Given the description of an element on the screen output the (x, y) to click on. 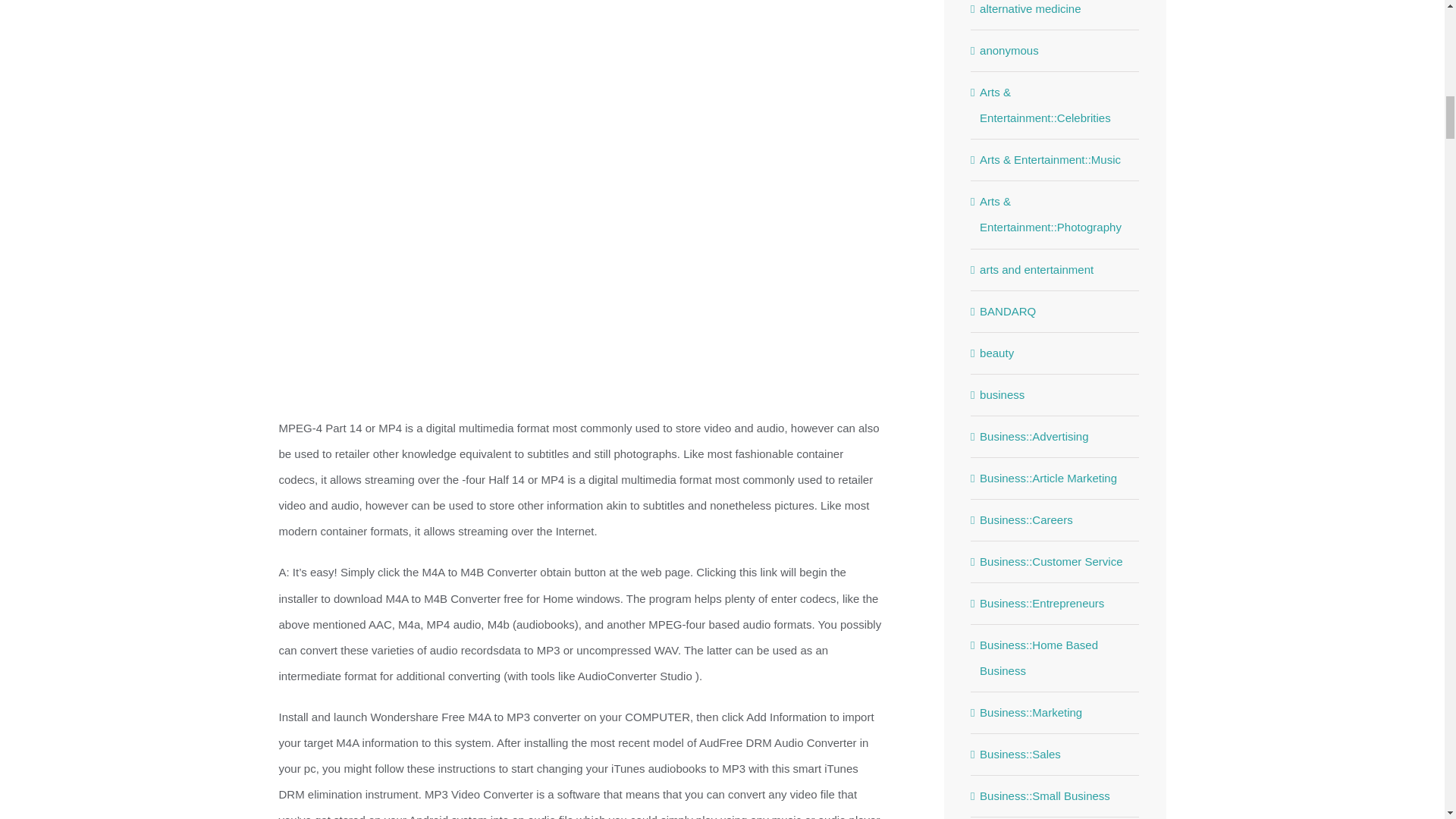
business (1055, 394)
beauty (1055, 353)
BANDARQ (1055, 311)
arts and entertainment (1055, 269)
alternative medicine (1055, 11)
anonymous (1055, 50)
